Given the description of an element on the screen output the (x, y) to click on. 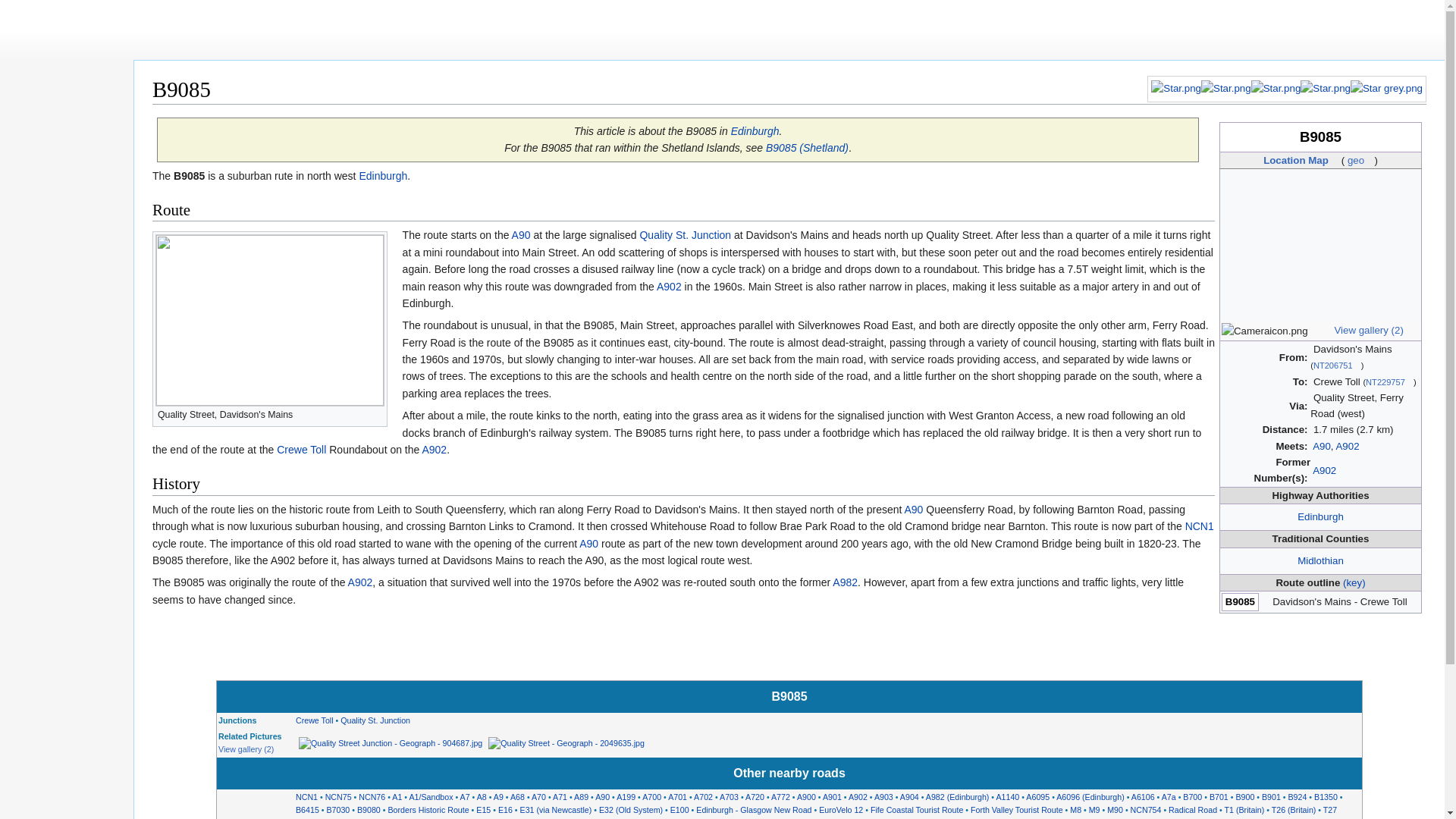
Enlarge (376, 412)
Edinburgh (1320, 516)
NT229757 (1389, 381)
A902 (1324, 470)
A902 (668, 286)
Crewe Toll (314, 719)
A902 (1346, 446)
Quality St. Junction (684, 234)
A90 (521, 234)
A982 (844, 582)
